Given the description of an element on the screen output the (x, y) to click on. 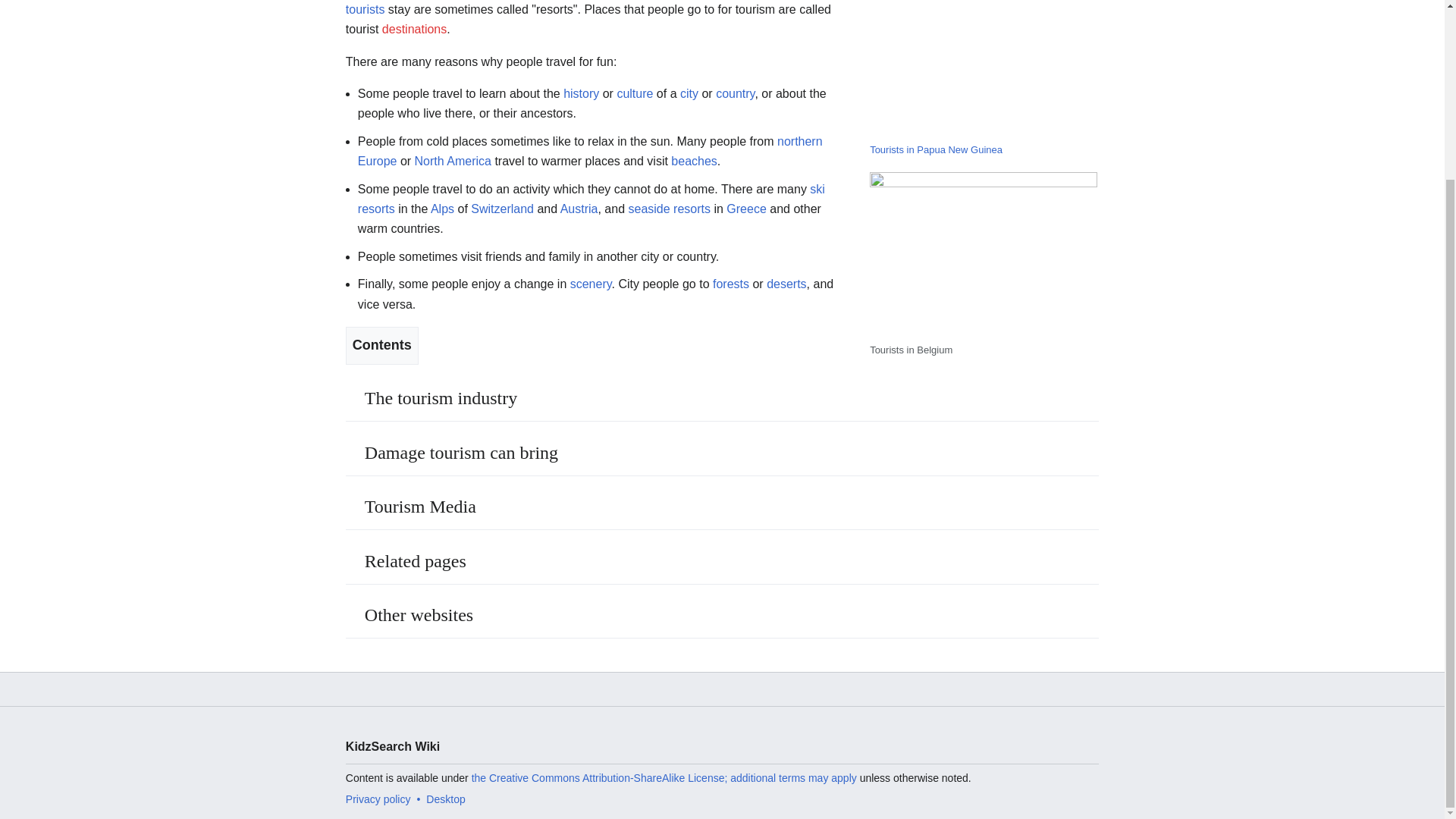
North America (453, 160)
Country (735, 92)
Beach (694, 160)
seaside resorts (668, 208)
country (735, 92)
ski resorts (591, 198)
destinations (413, 29)
Culture (633, 92)
Switzerland (502, 208)
culture (633, 92)
City (688, 92)
Austria (579, 208)
beaches (694, 160)
Alps (442, 208)
northern Europe (590, 151)
